Given the description of an element on the screen output the (x, y) to click on. 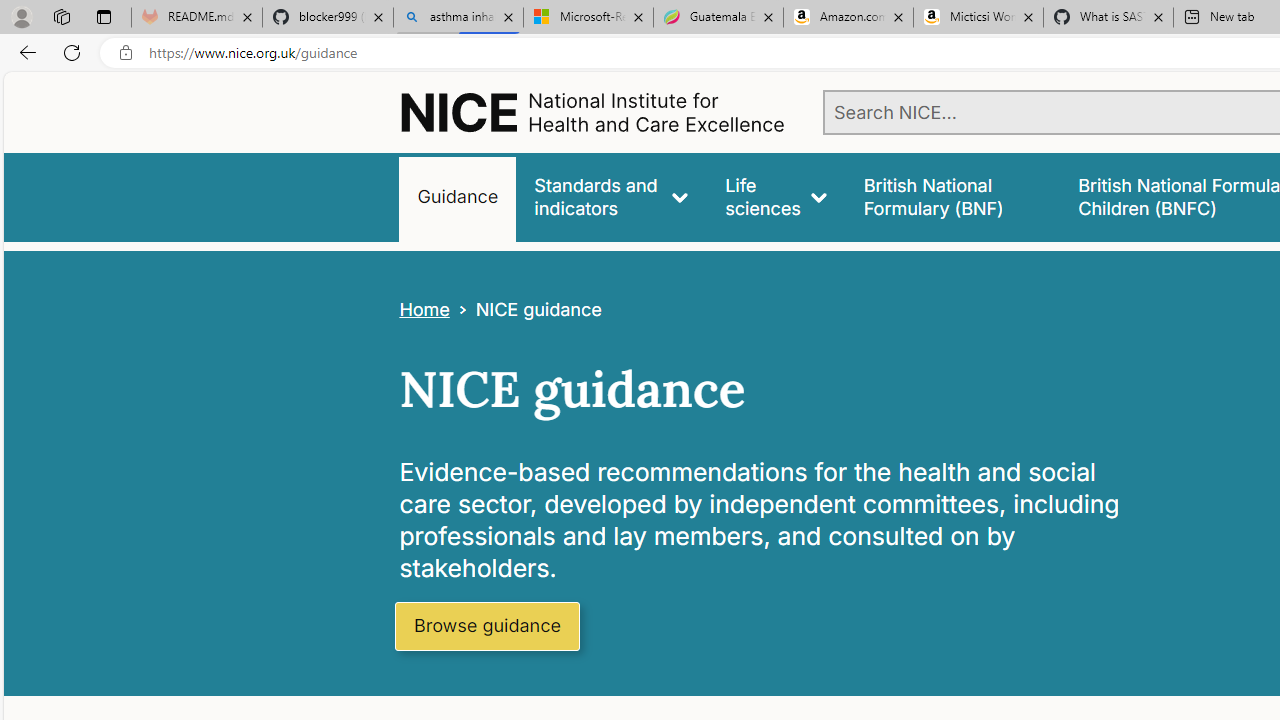
>NICE guidance (525, 309)
false (952, 196)
asthma inhaler - Search (458, 17)
Browse guidance (486, 626)
